Given the description of an element on the screen output the (x, y) to click on. 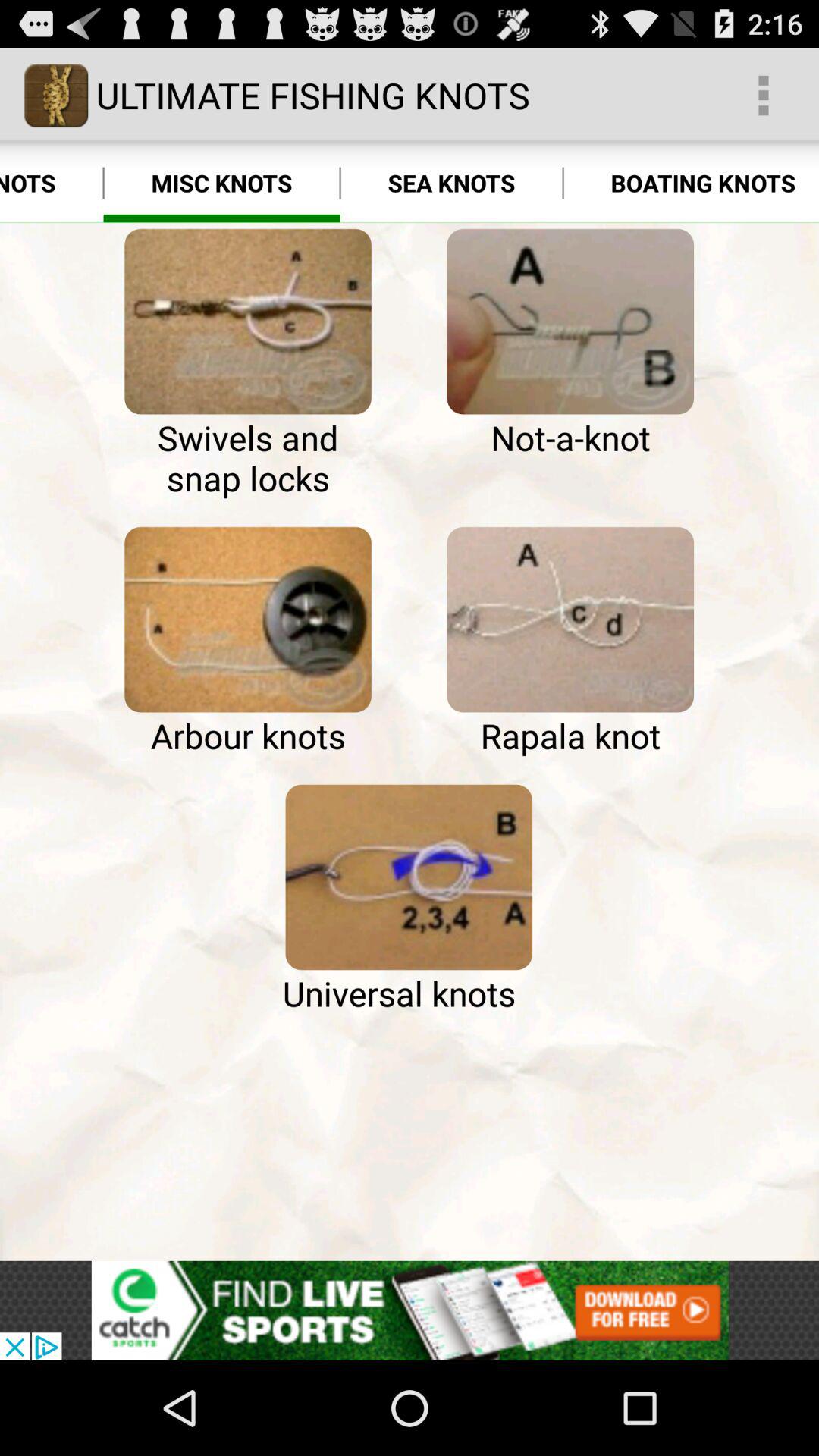
choose the icon below the arbour knots icon (408, 876)
